Given the description of an element on the screen output the (x, y) to click on. 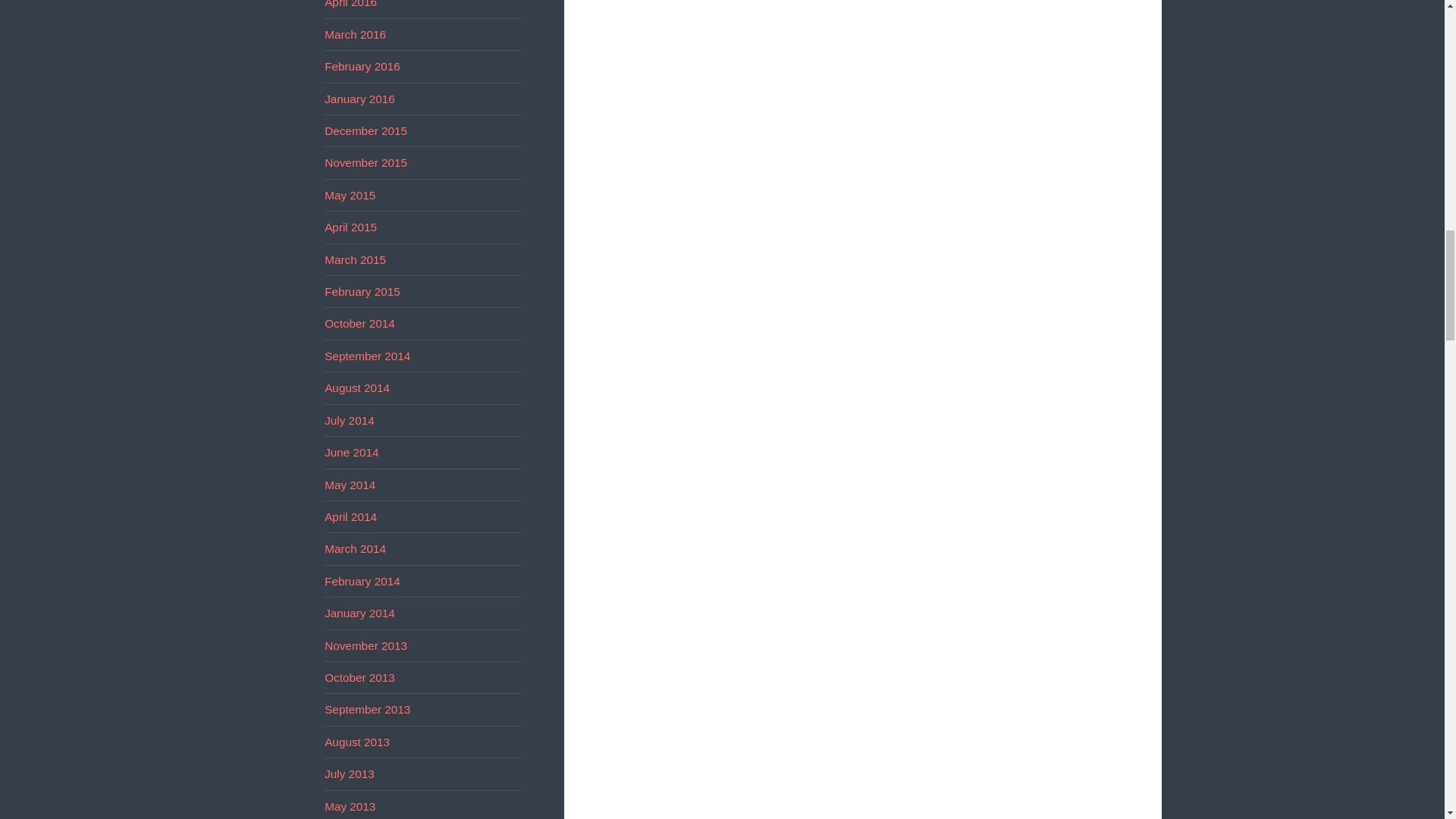
February 2016 (362, 65)
January 2016 (359, 98)
March 2016 (354, 33)
April 2016 (350, 4)
